Given the description of an element on the screen output the (x, y) to click on. 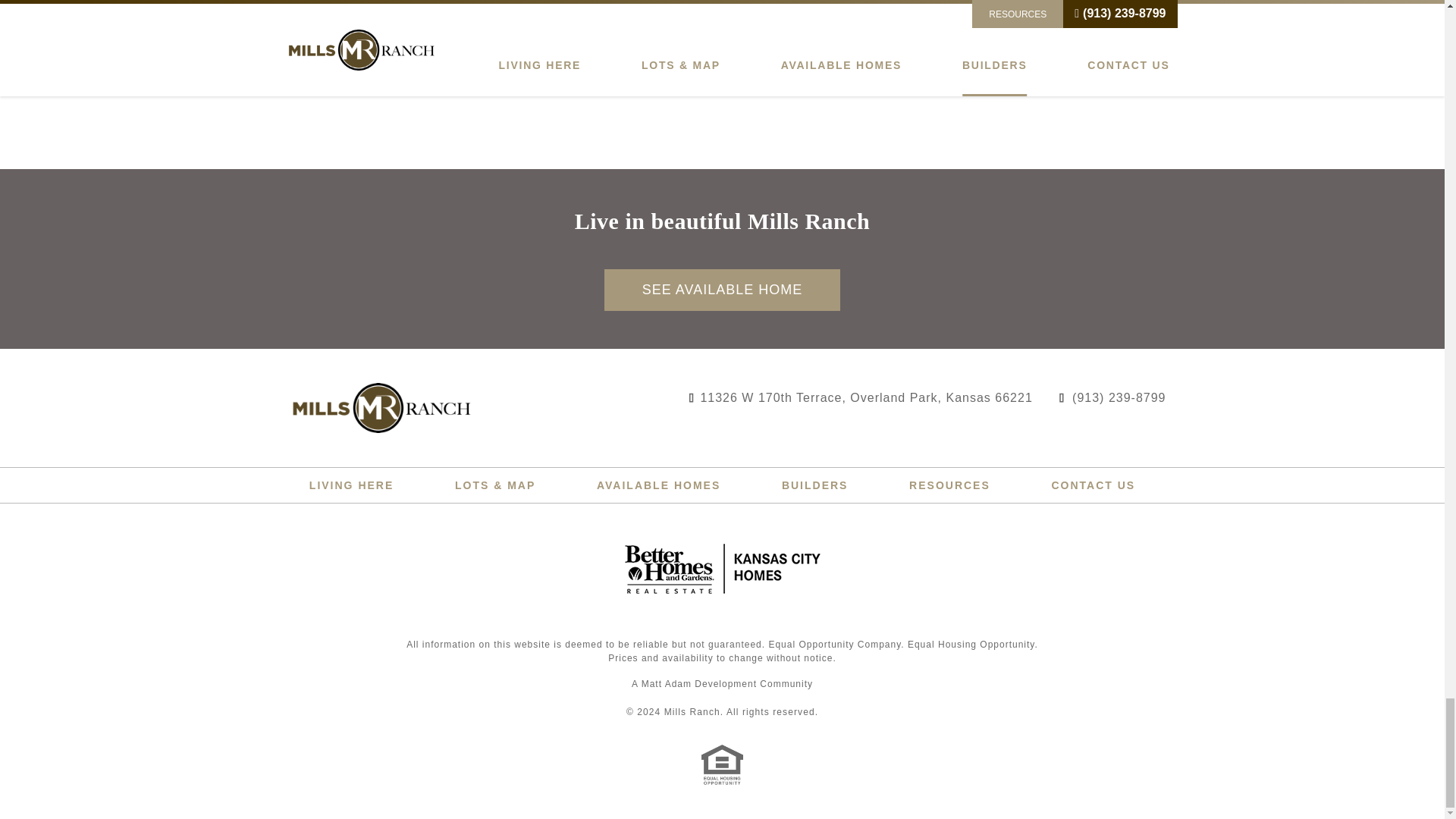
SEE AVAILABLE HOME (722, 290)
Living Here (350, 484)
LIVING HERE (350, 484)
VISIT OUR WEBSITE (658, 30)
Available Homes (658, 484)
Contact Us (1093, 484)
BUILDERS (814, 484)
Resources (949, 484)
Builders (814, 484)
RESOURCES (949, 484)
